Given the description of an element on the screen output the (x, y) to click on. 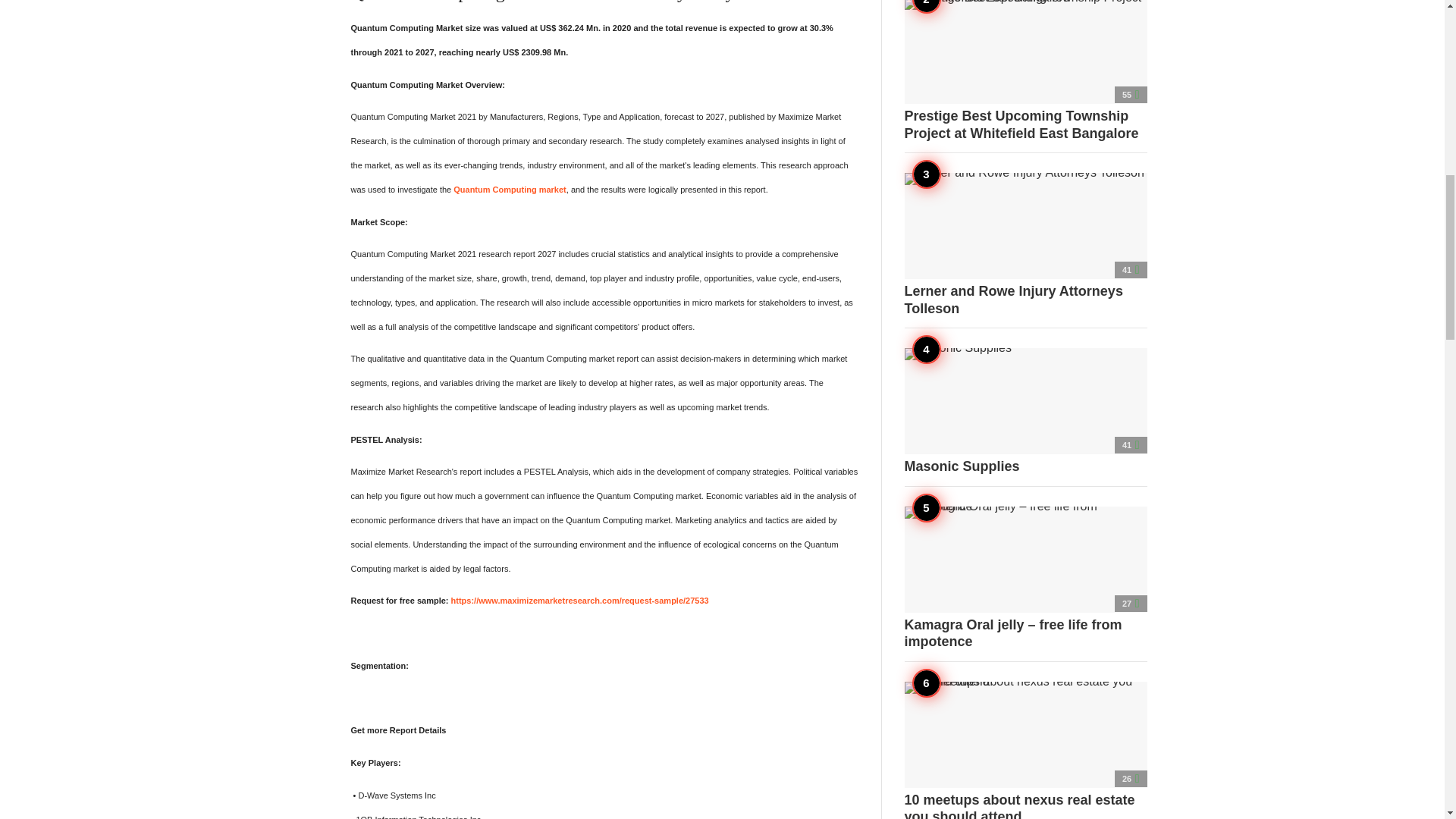
10 meetups about nexus real estate you should attend (1025, 749)
Lerner and Rowe Injury Attorneys Tolleson (1025, 244)
Masonic Supplies (1025, 411)
